Given the description of an element on the screen output the (x, y) to click on. 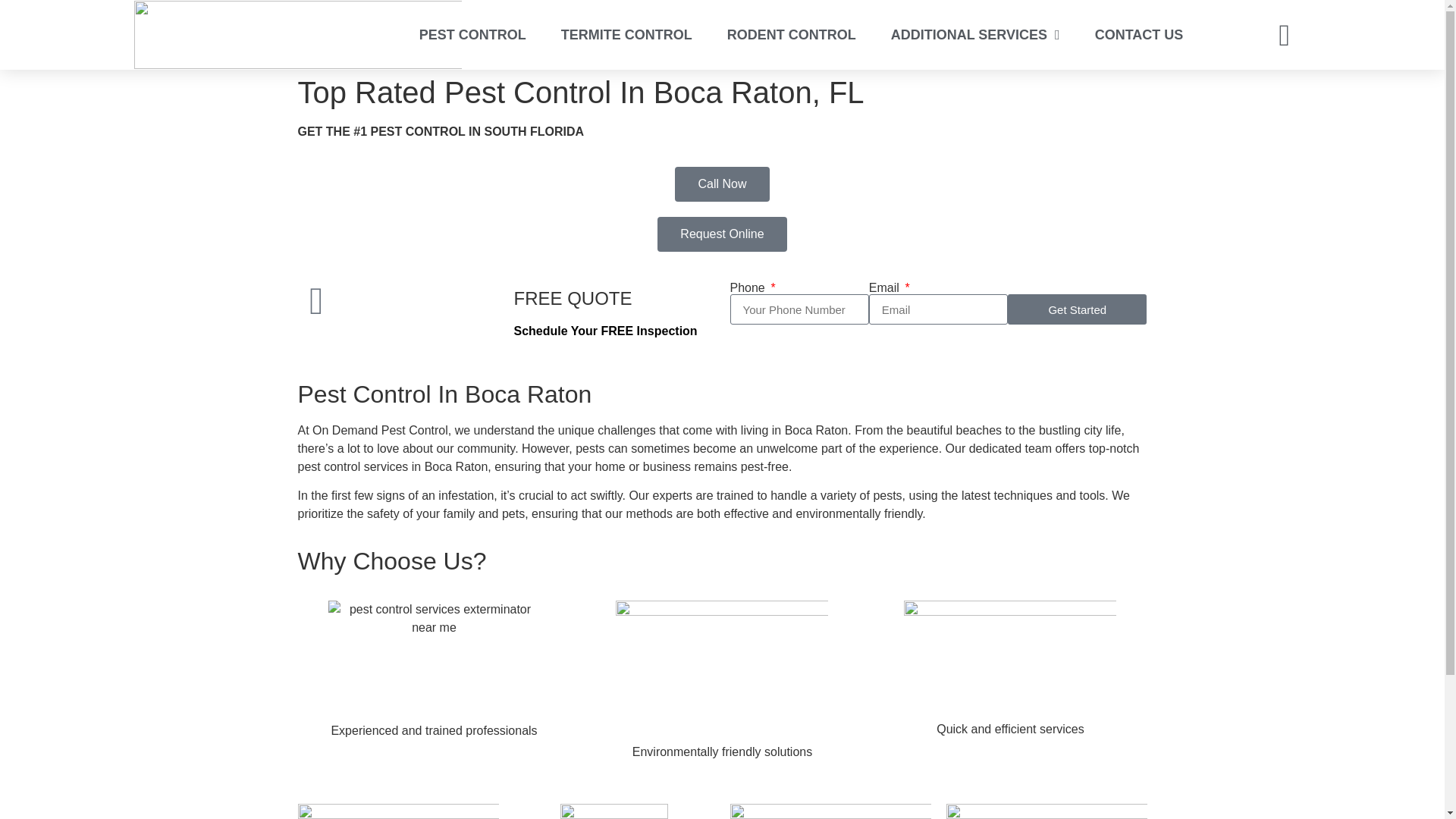
Get Started (1077, 309)
ADDITIONAL SERVICES (975, 34)
TERMITE CONTROL (626, 34)
Call Now (721, 184)
Request Online (722, 234)
CONTACT US (1139, 34)
PEST CONTROL (472, 34)
RODENT CONTROL (790, 34)
